Given the description of an element on the screen output the (x, y) to click on. 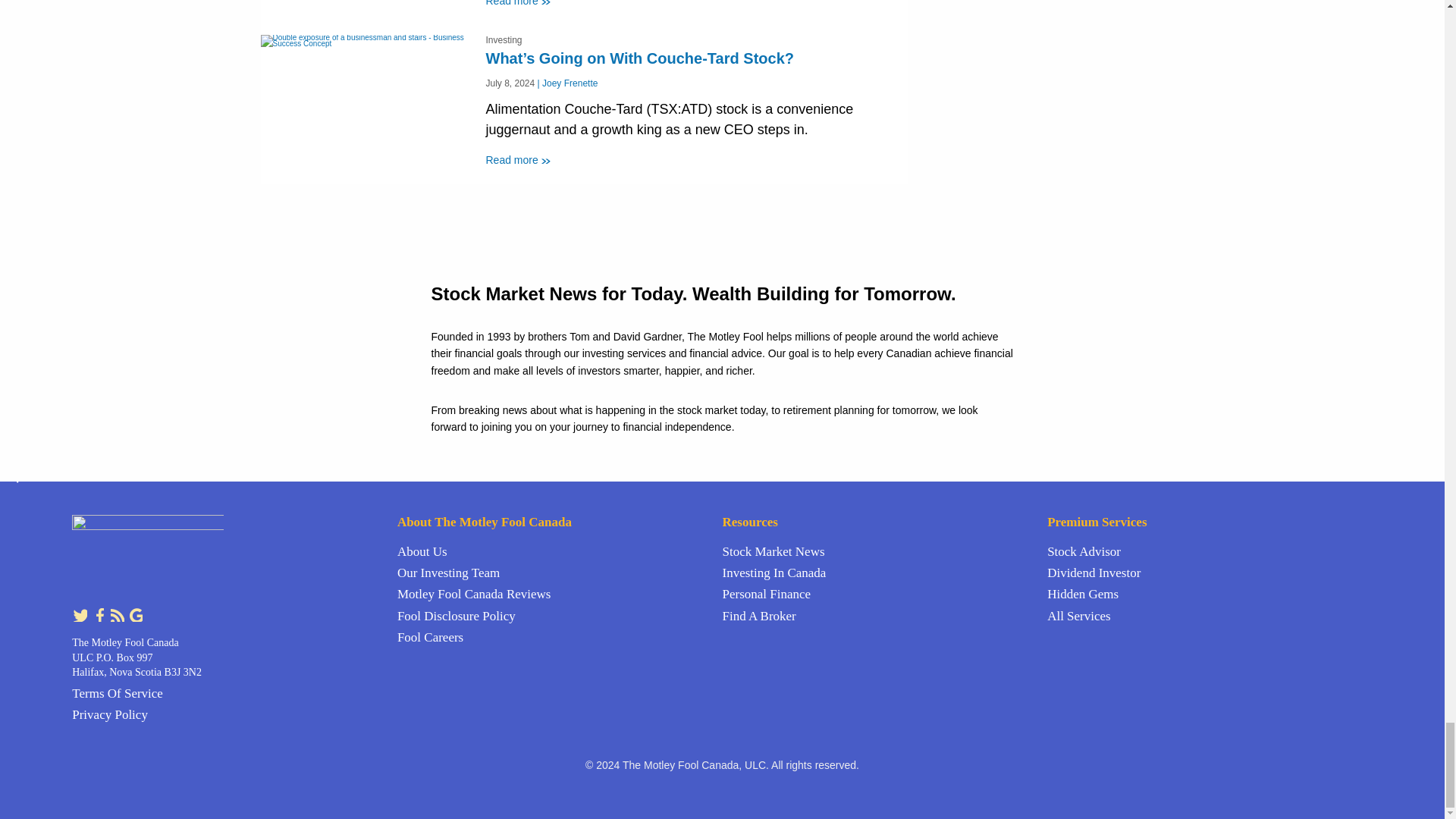
Like us on Facebook (99, 613)
Subscribe to our feed (118, 613)
Follow us on Twitter (80, 613)
Follow us on Google News (135, 613)
